Given the description of an element on the screen output the (x, y) to click on. 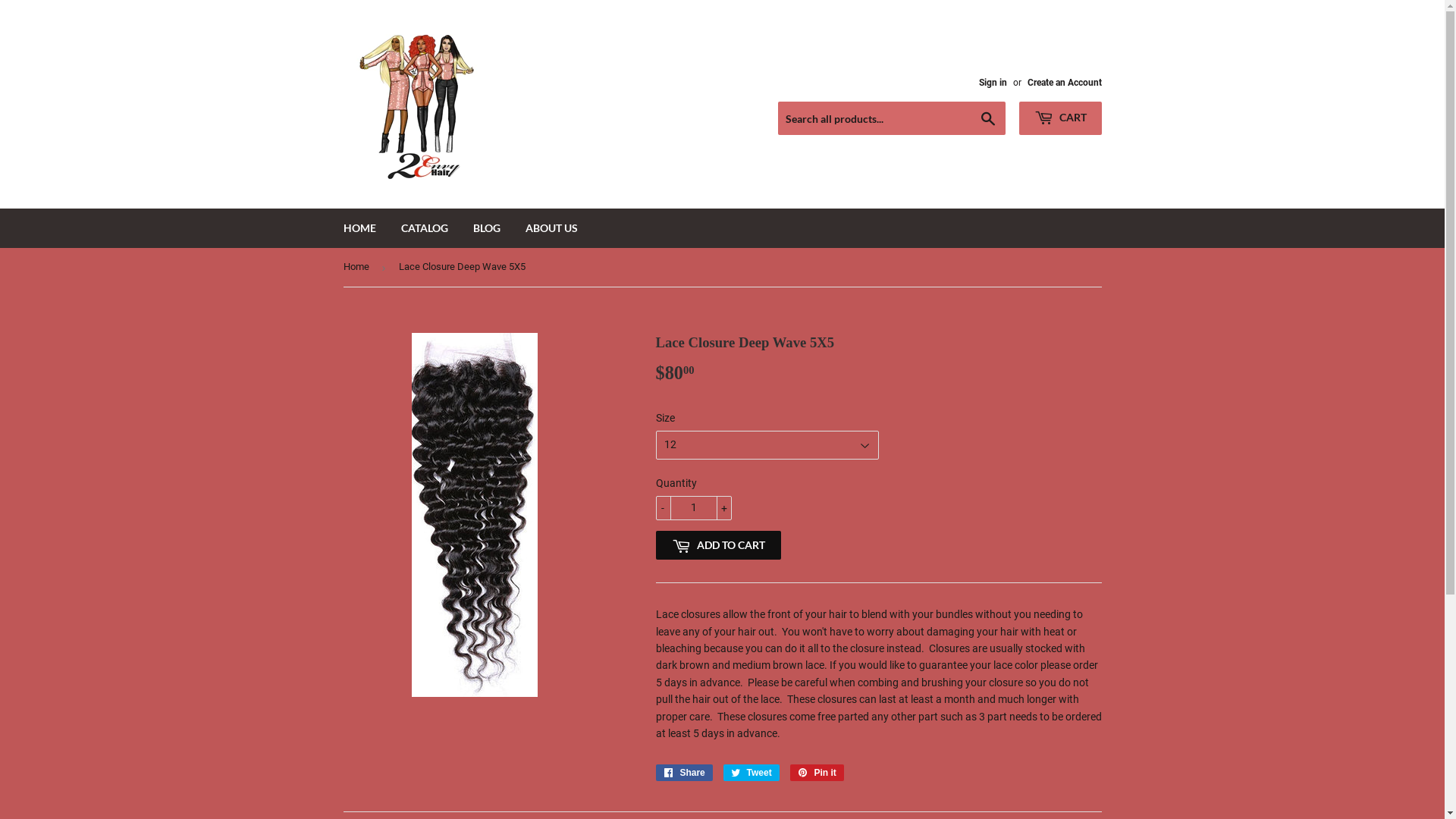
Pin it
Pin on Pinterest Element type: text (817, 772)
CART Element type: text (1060, 117)
BLOG Element type: text (486, 227)
ABOUT US Element type: text (551, 227)
Home Element type: text (357, 266)
Share
Share on Facebook Element type: text (683, 772)
CATALOG Element type: text (424, 227)
Sign in Element type: text (992, 82)
Tweet
Tweet on Twitter Element type: text (751, 772)
Search Element type: text (987, 118)
Create an Account Element type: text (1063, 82)
HOME Element type: text (359, 227)
ADD TO CART Element type: text (717, 544)
